Given the description of an element on the screen output the (x, y) to click on. 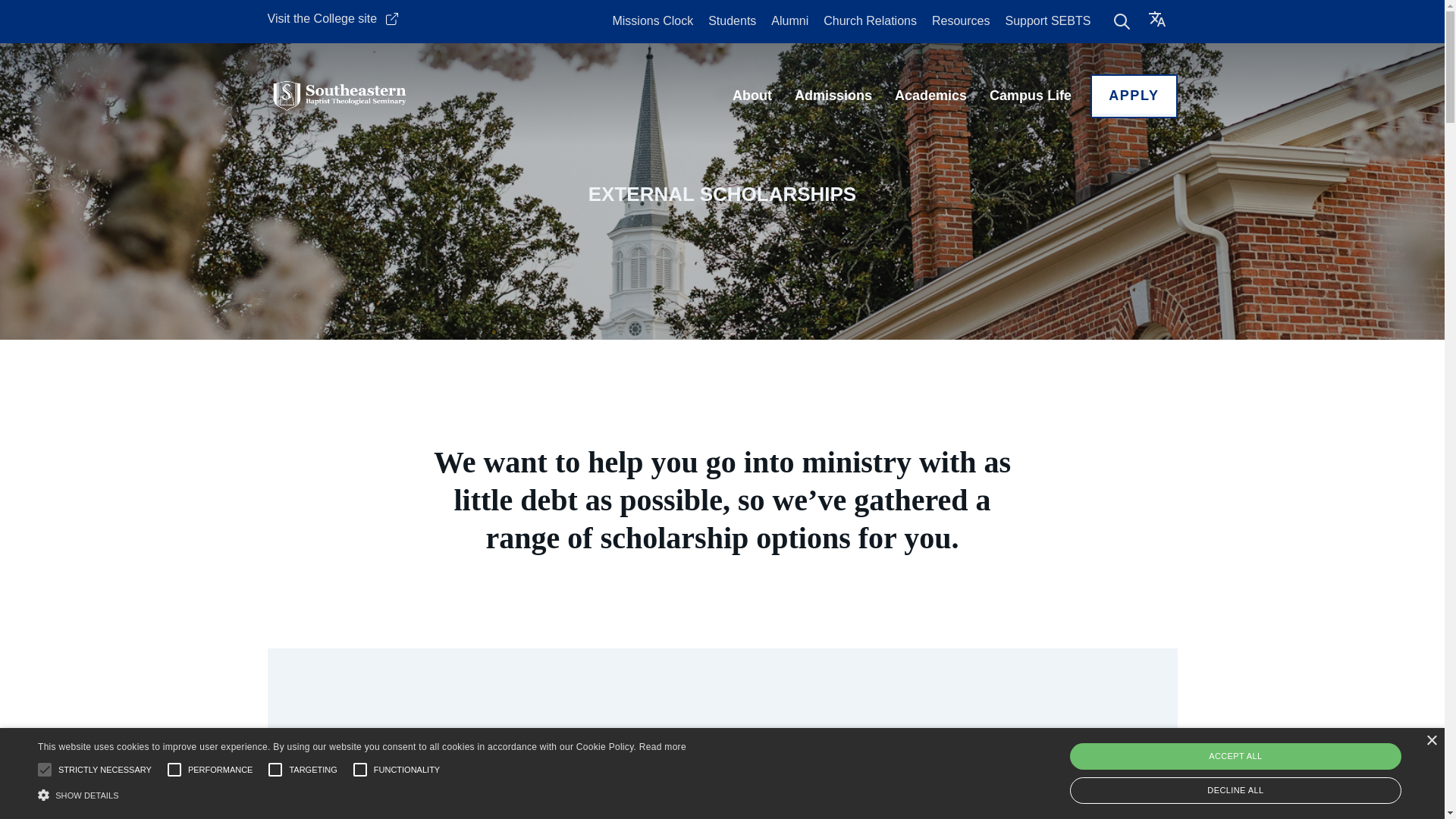
Alumni (789, 20)
Resources (960, 20)
Southeastern Baptist Theological Seminary (339, 95)
About (752, 95)
Admissions (833, 95)
Support SEBTS (1047, 20)
Visit the College site (332, 18)
Students (731, 20)
Missions Clock (652, 20)
Return to Homepage (339, 95)
Church Relations (870, 20)
